Given the description of an element on the screen output the (x, y) to click on. 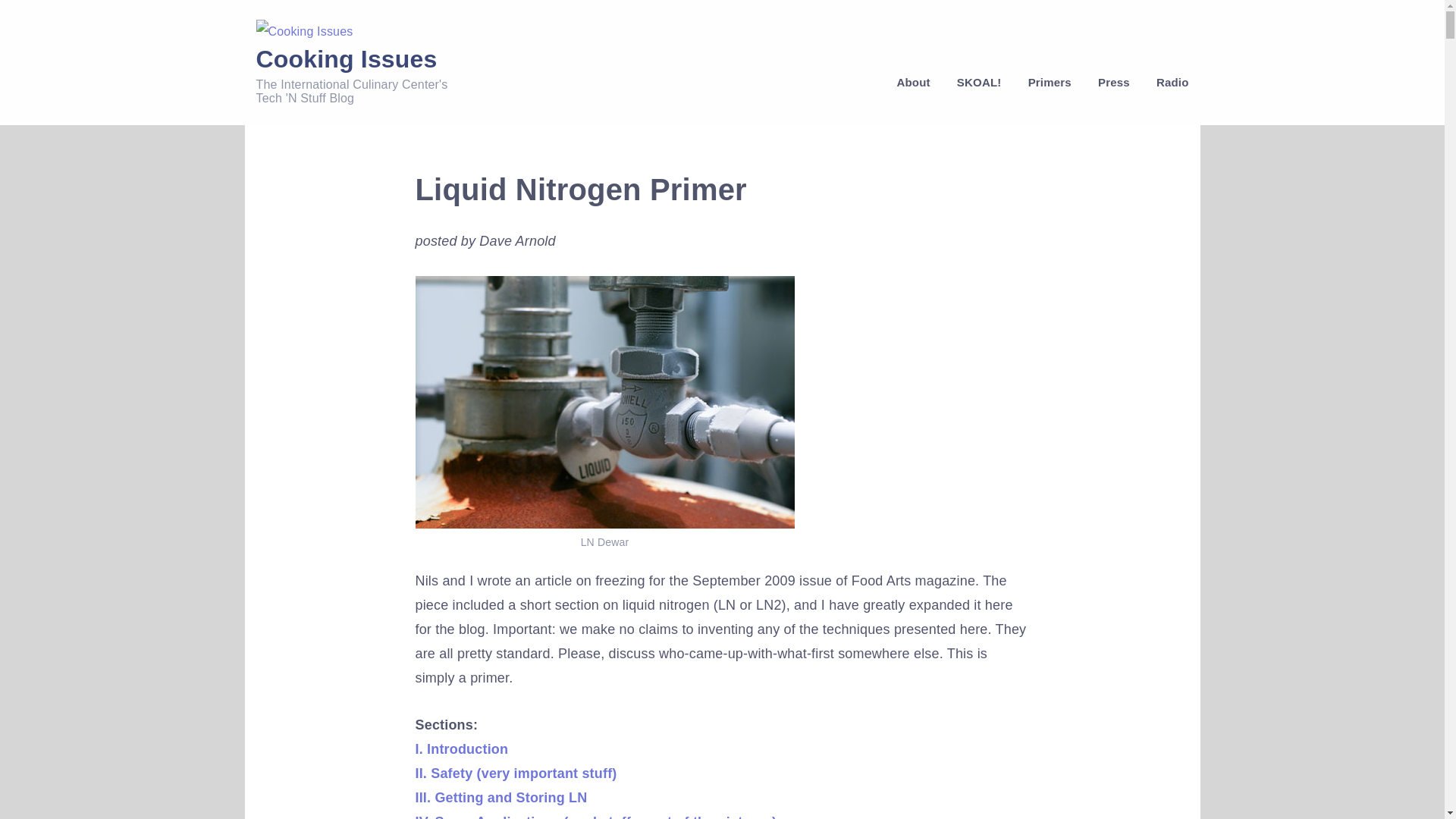
Cooking Issues (347, 58)
Primers (1049, 82)
About (912, 82)
I. Introduction (461, 749)
Press (1113, 82)
III. Getting and Storing LN (501, 797)
SKOAL! (978, 82)
Radio (1166, 82)
